Given the description of an element on the screen output the (x, y) to click on. 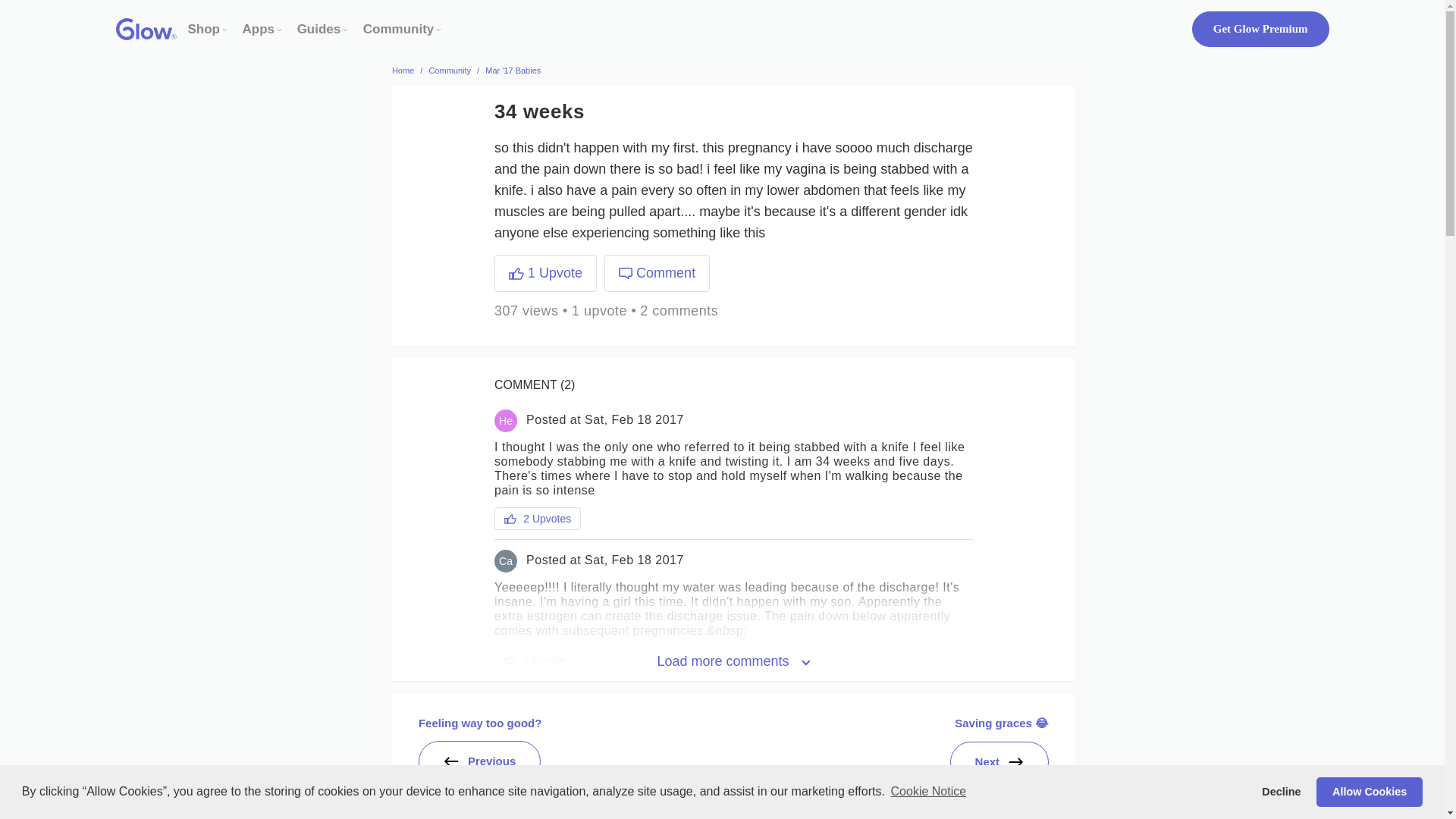
Cookie Notice (928, 791)
Guides (318, 28)
Glow Shop (204, 28)
Shop (204, 28)
Allow Cookies (1369, 791)
Decline (1281, 791)
Glow Community (397, 28)
Apps (259, 28)
